Given the description of an element on the screen output the (x, y) to click on. 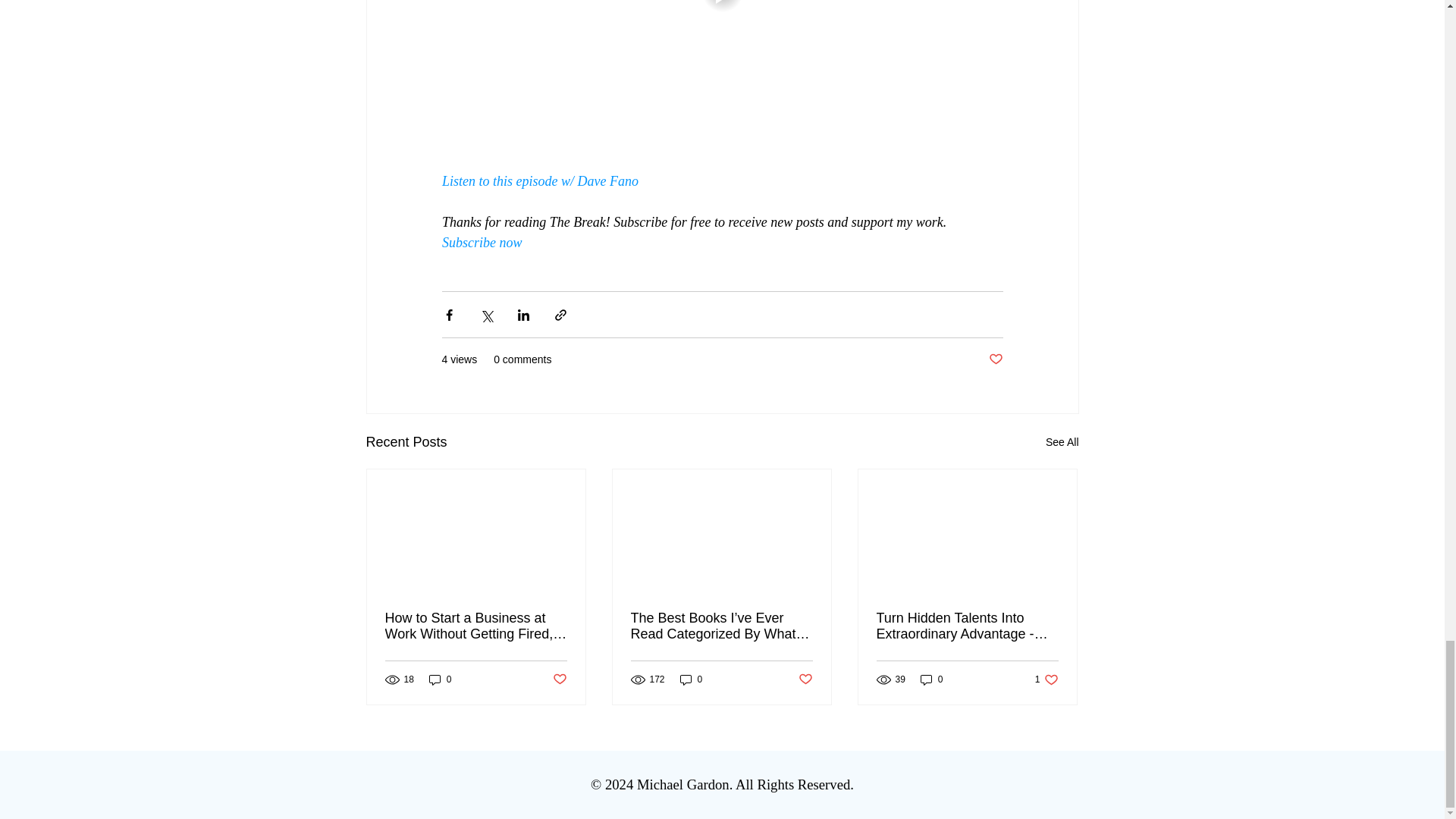
0 (1046, 679)
See All (931, 679)
Subscribe now (1061, 442)
0 (481, 242)
Post not marked as liked (440, 679)
Post not marked as liked (558, 679)
Post not marked as liked (995, 359)
